Given the description of an element on the screen output the (x, y) to click on. 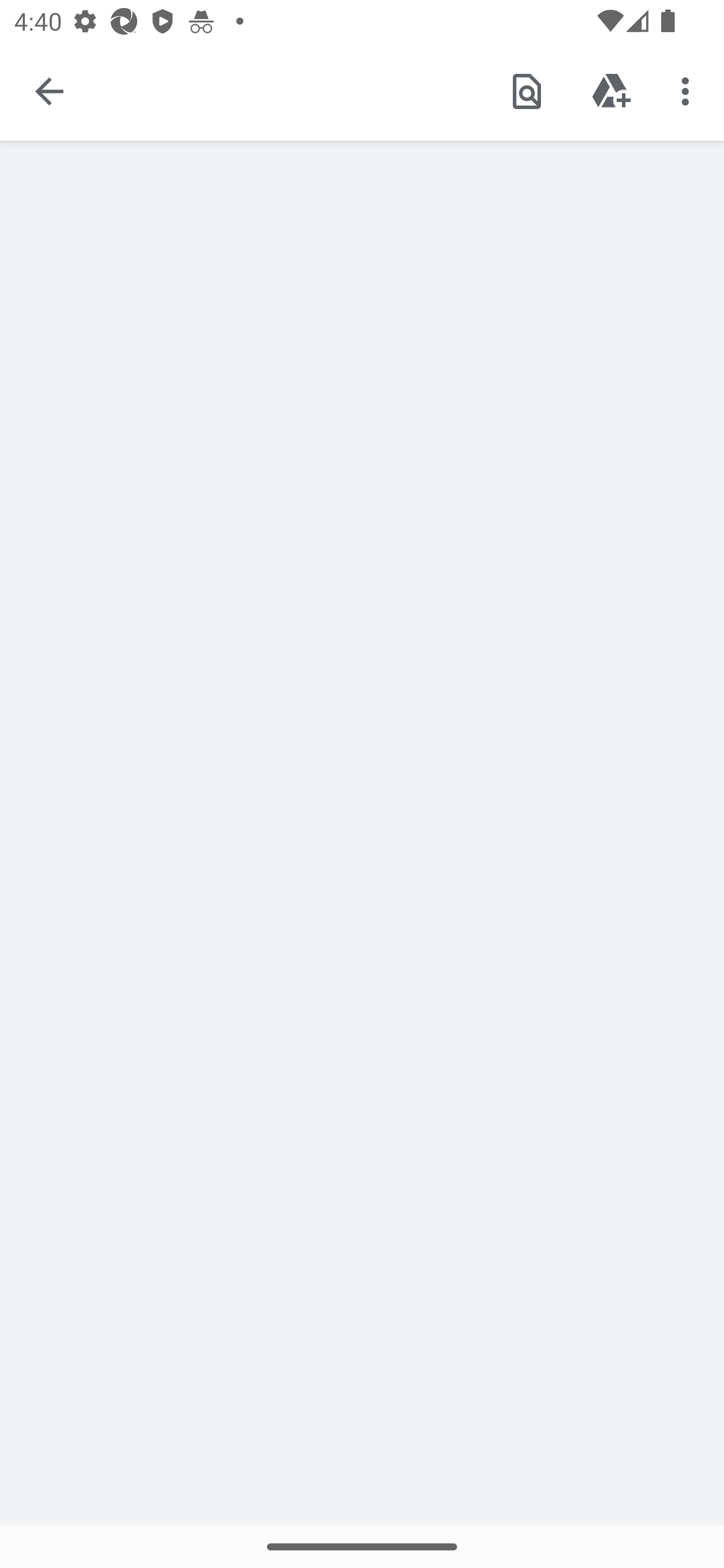
Find (526, 90)
Add to Drive (611, 90)
More options (688, 90)
